Given the description of an element on the screen output the (x, y) to click on. 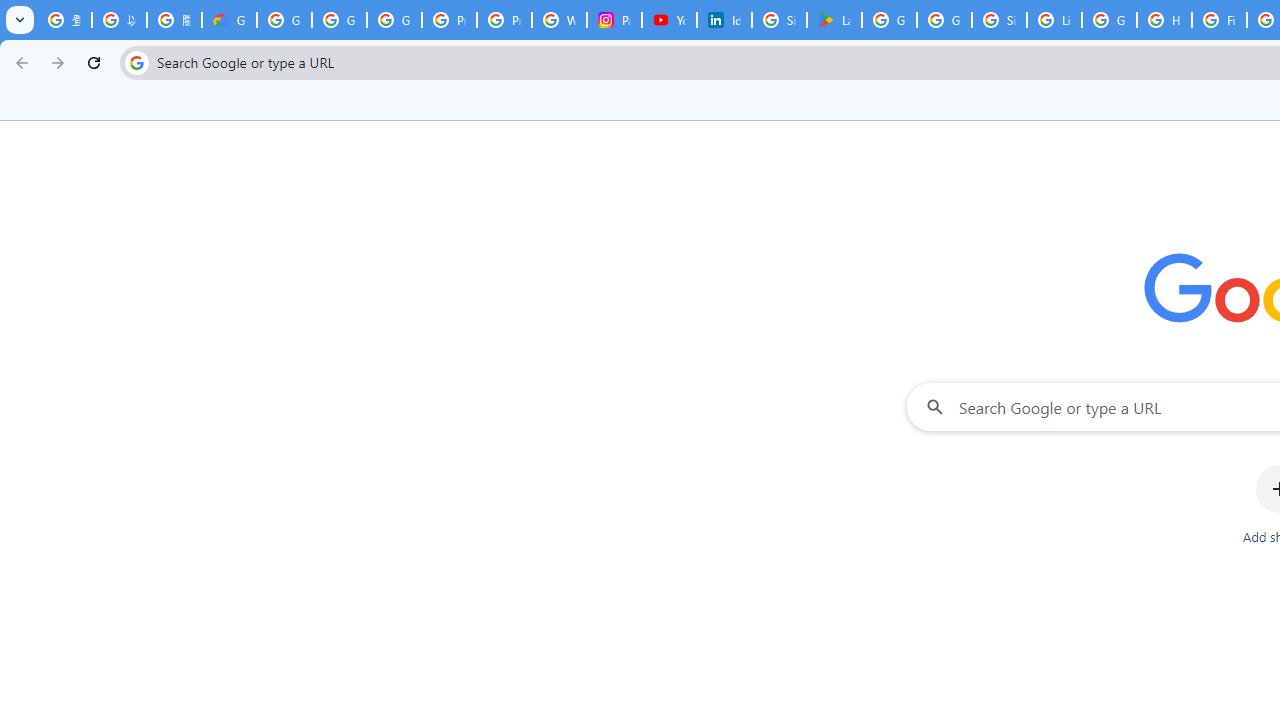
How do I create a new Google Account? - Google Account Help (1163, 20)
YouTube Culture & Trends - On The Rise: Handcam Videos (669, 20)
Google Workspace - Specific Terms (943, 20)
Sign in - Google Accounts (779, 20)
Privacy Help Center - Policies Help (504, 20)
